Given the description of an element on the screen output the (x, y) to click on. 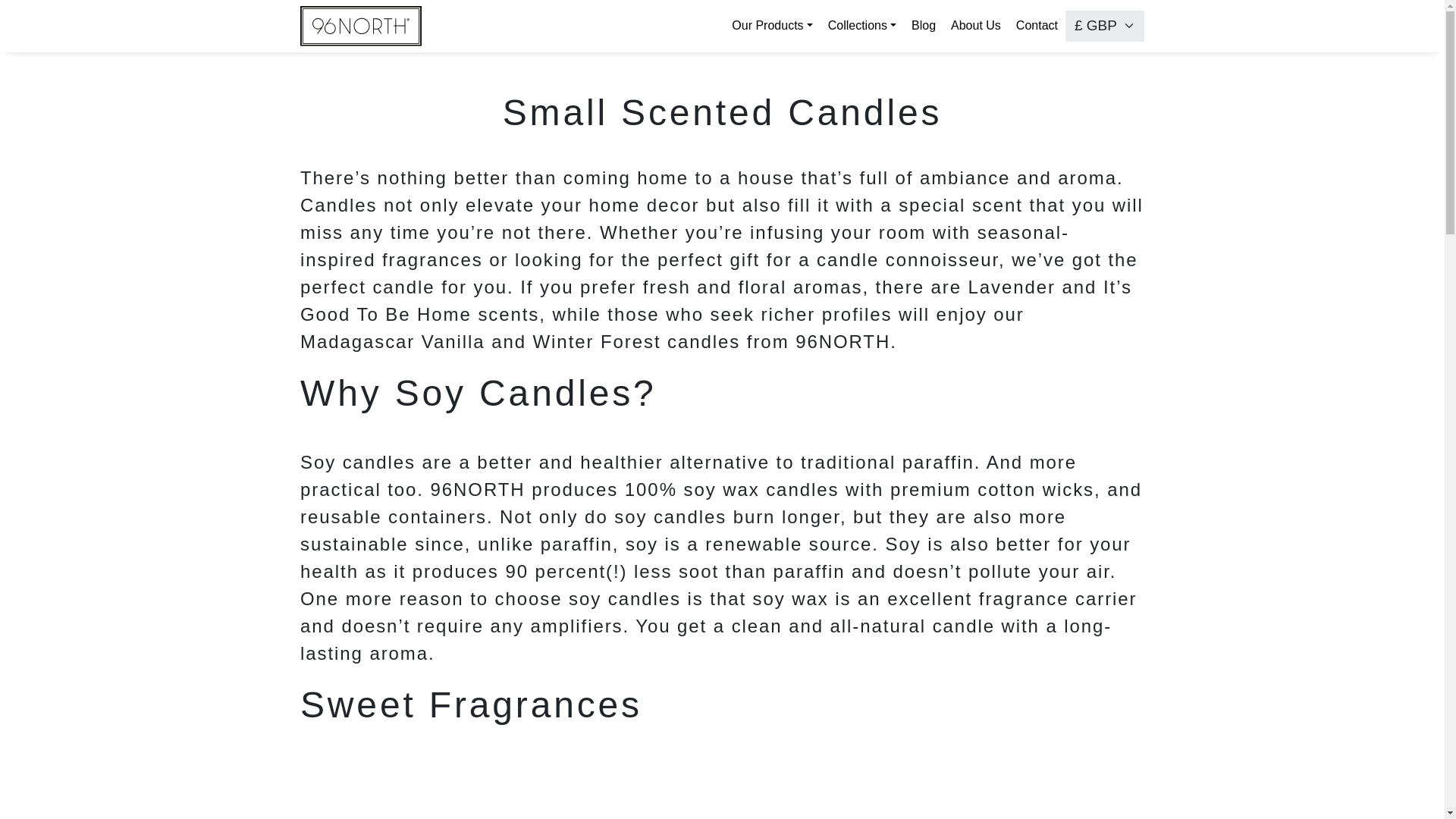
Contact (1037, 25)
Blog (923, 25)
Collections (862, 25)
Our Products (771, 25)
About Us (976, 25)
